Given the description of an element on the screen output the (x, y) to click on. 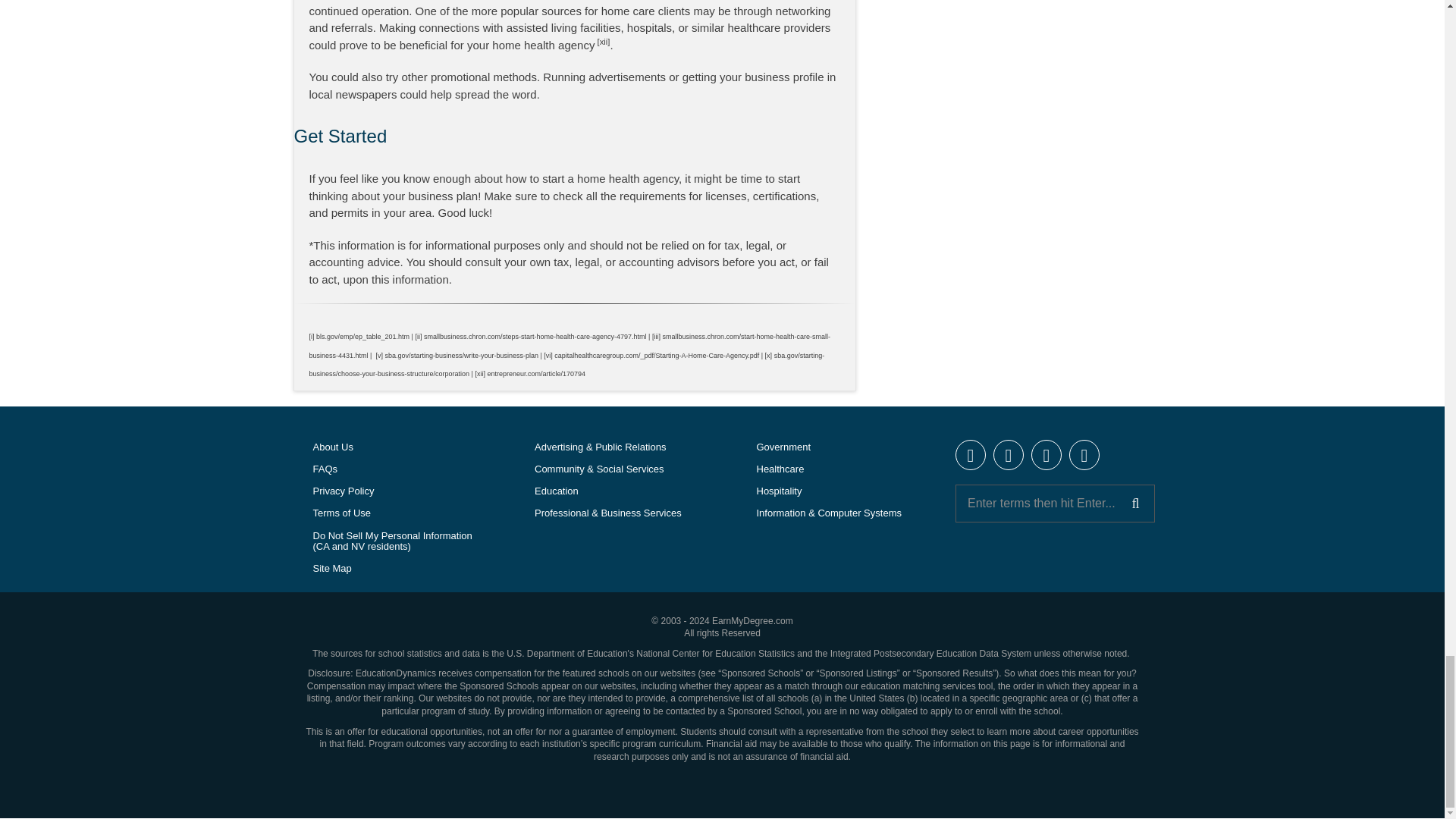
Enter terms then hit Enter... (1054, 503)
FAQs (389, 469)
About Us (389, 447)
Privacy Policy (389, 491)
Terms of Use (389, 513)
